Given the description of an element on the screen output the (x, y) to click on. 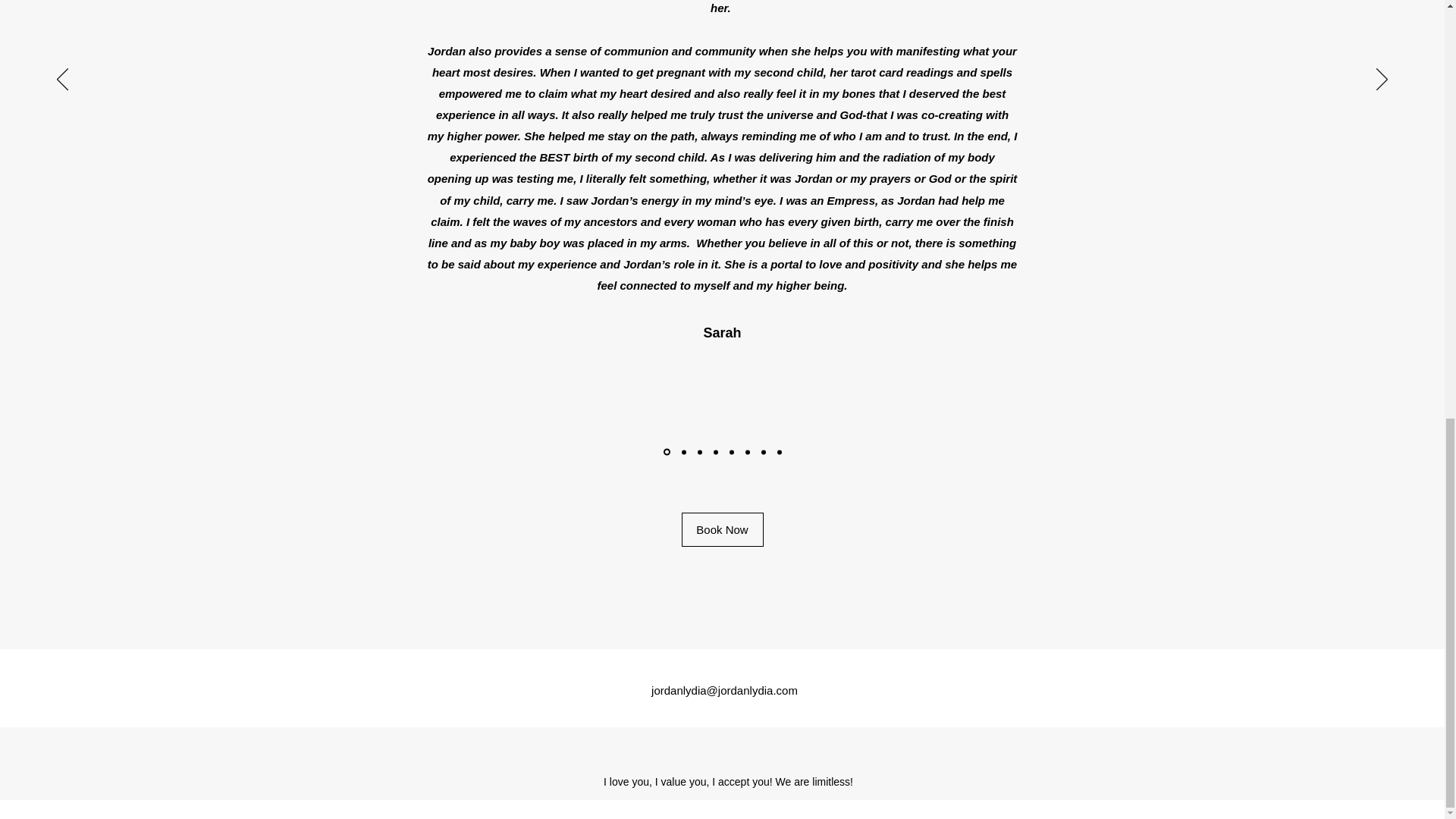
Book Now (721, 529)
